Given the description of an element on the screen output the (x, y) to click on. 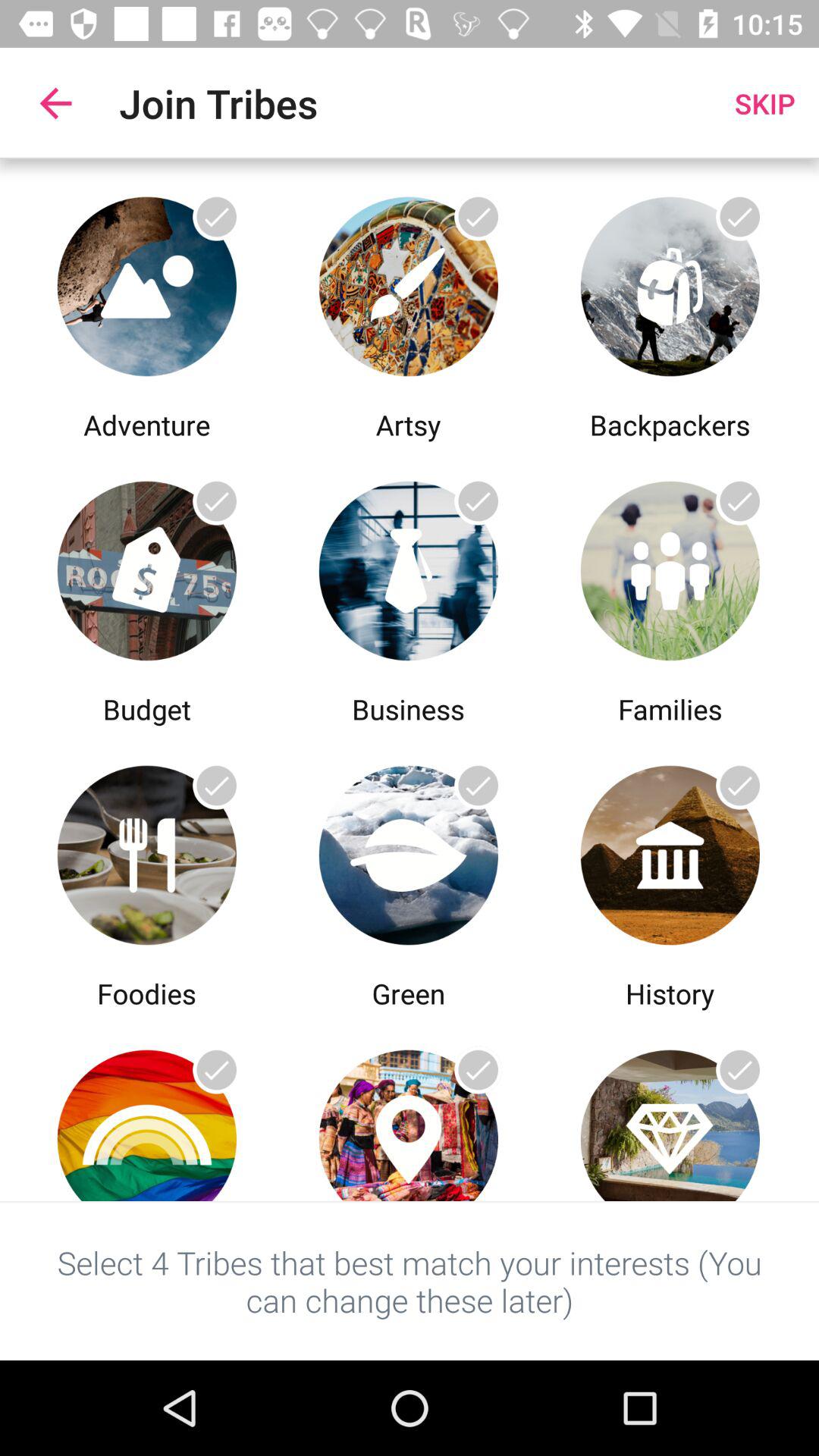
scroll until skip item (764, 103)
